Given the description of an element on the screen output the (x, y) to click on. 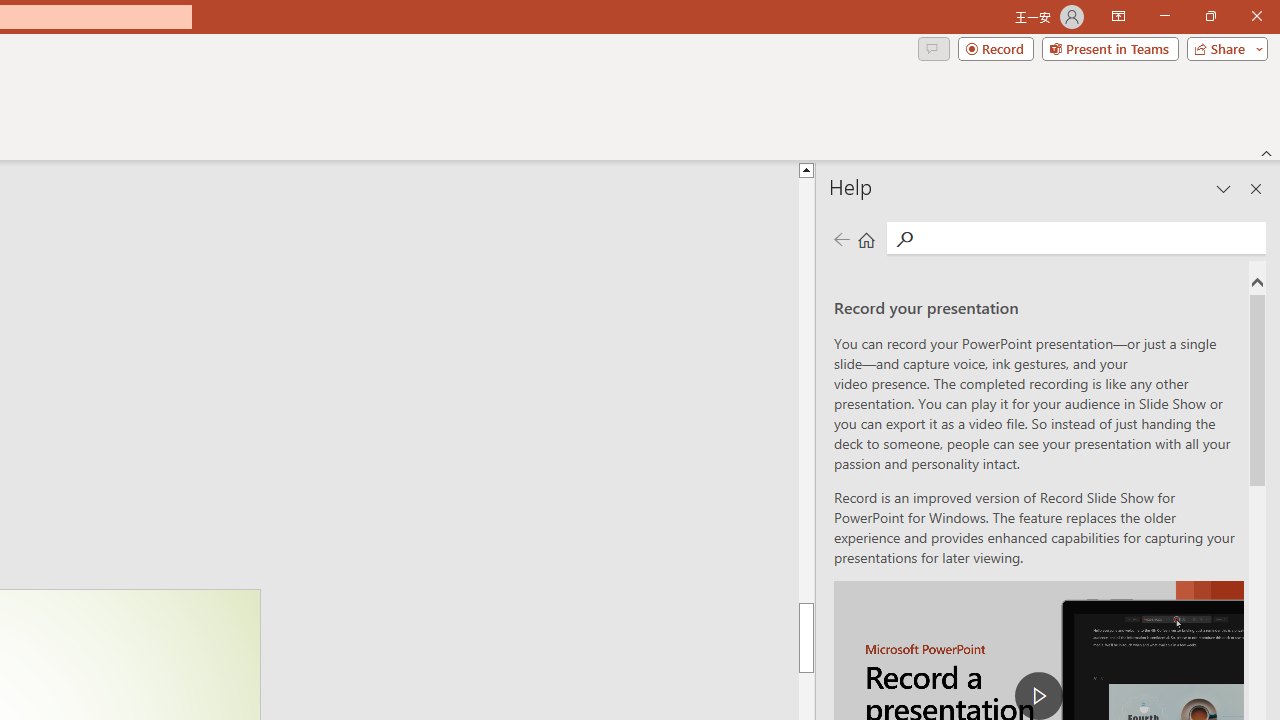
Previous page (841, 238)
